Given the description of an element on the screen output the (x, y) to click on. 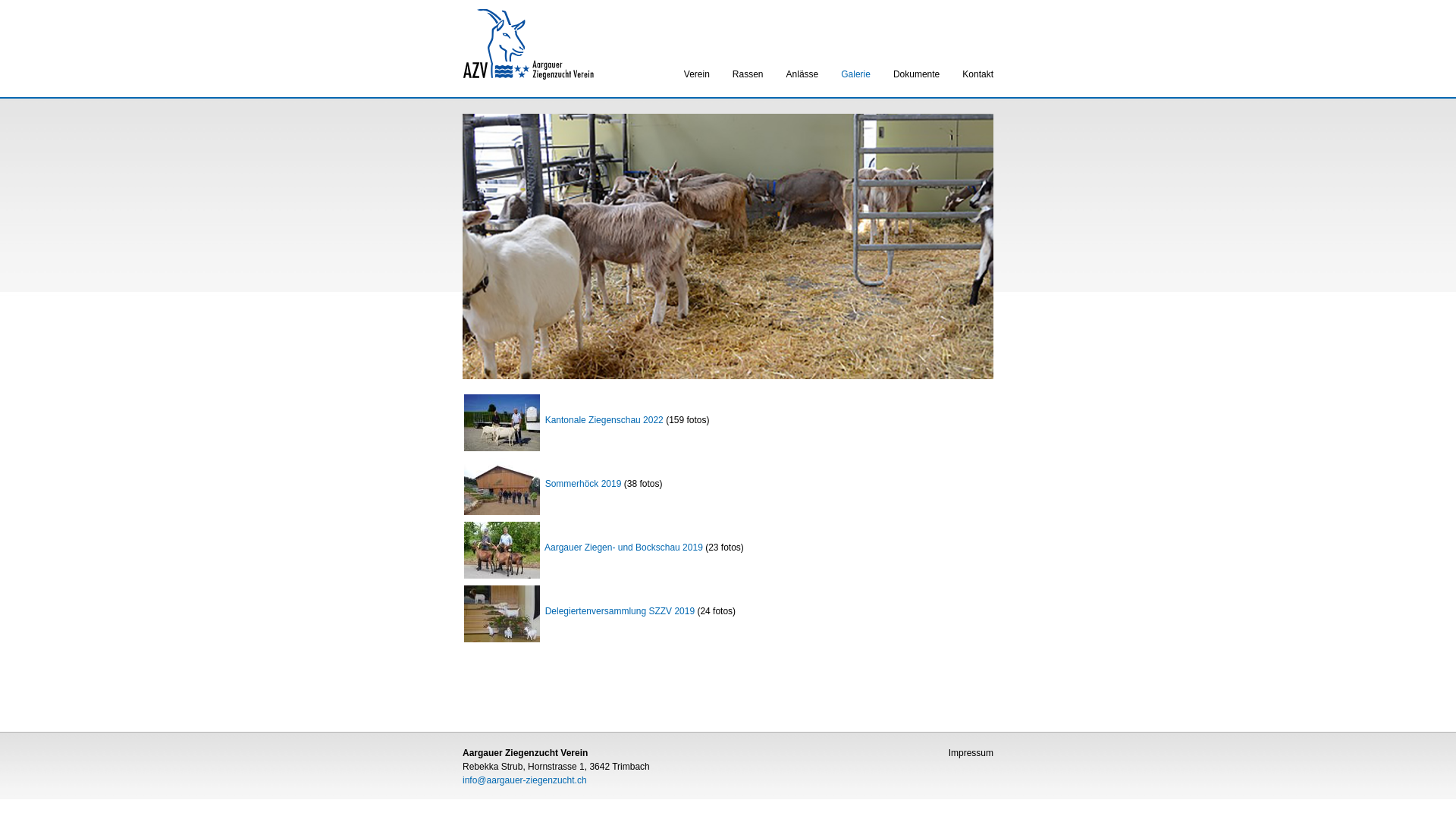
Impressum Element type: text (970, 752)
Galerie Element type: text (855, 74)
  Aargauer Ziegen- und Bockschau 2019 Element type: text (583, 546)
info@aargauer-ziegenzucht.ch Element type: text (524, 780)
Verein Element type: text (696, 74)
Rassen Element type: text (747, 74)
Dokumente Element type: text (916, 74)
Kontakt Element type: text (977, 74)
  Kantonale Ziegenschau 2022 Element type: text (563, 419)
  Delegiertenversammlung SZZV 2019 Element type: text (579, 610)
